Given the description of an element on the screen output the (x, y) to click on. 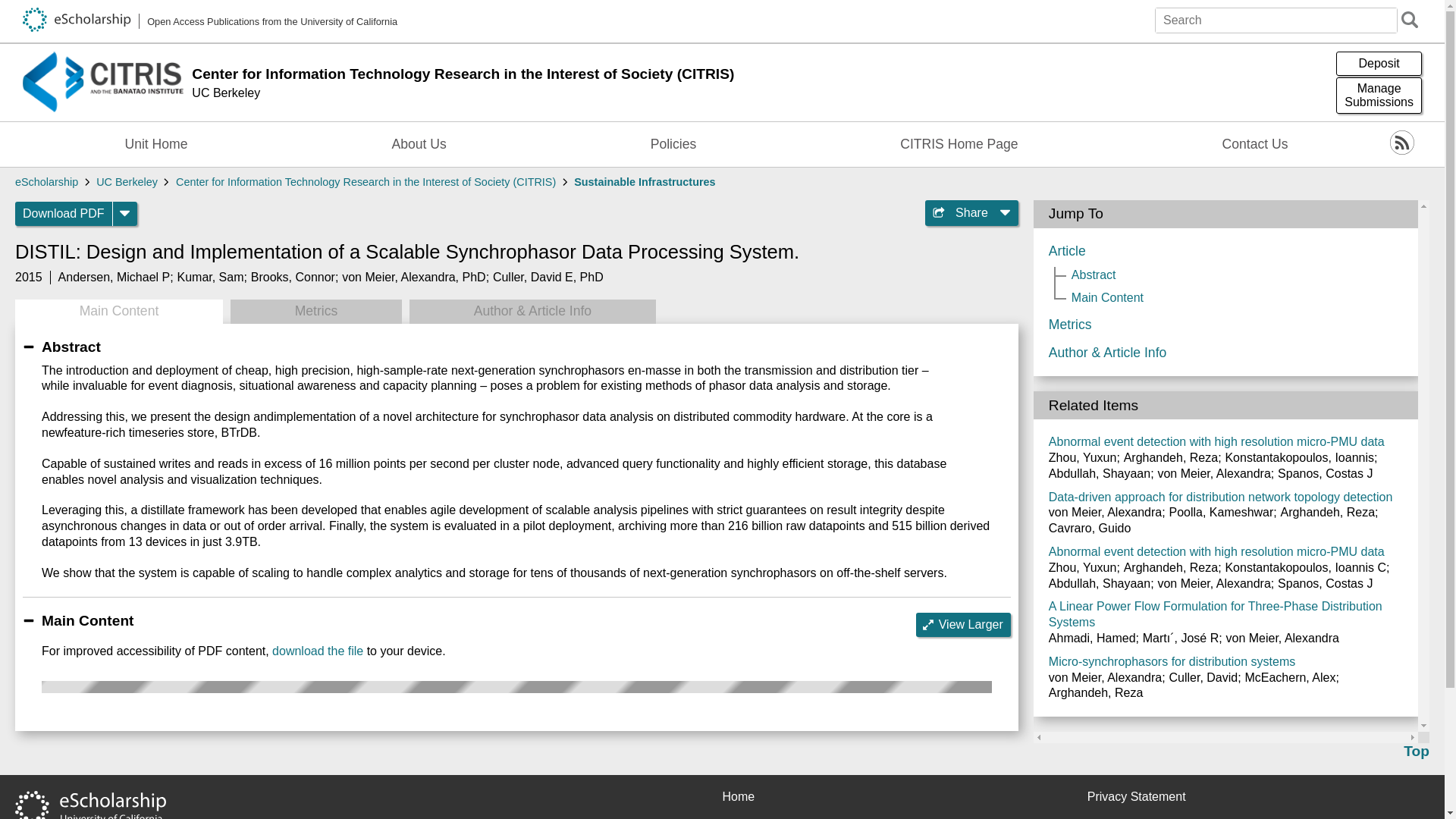
Deposit (1379, 63)
About Us (418, 143)
Brooks, Connor (292, 277)
Kumar, Sam (209, 277)
UC Berkeley (759, 100)
CITRIS Home Page (958, 143)
Metrics (315, 311)
Andersen, Michael P (114, 277)
Sustainable Infrastructures (643, 182)
von Meier, Alexandra, PhD (413, 277)
